Given the description of an element on the screen output the (x, y) to click on. 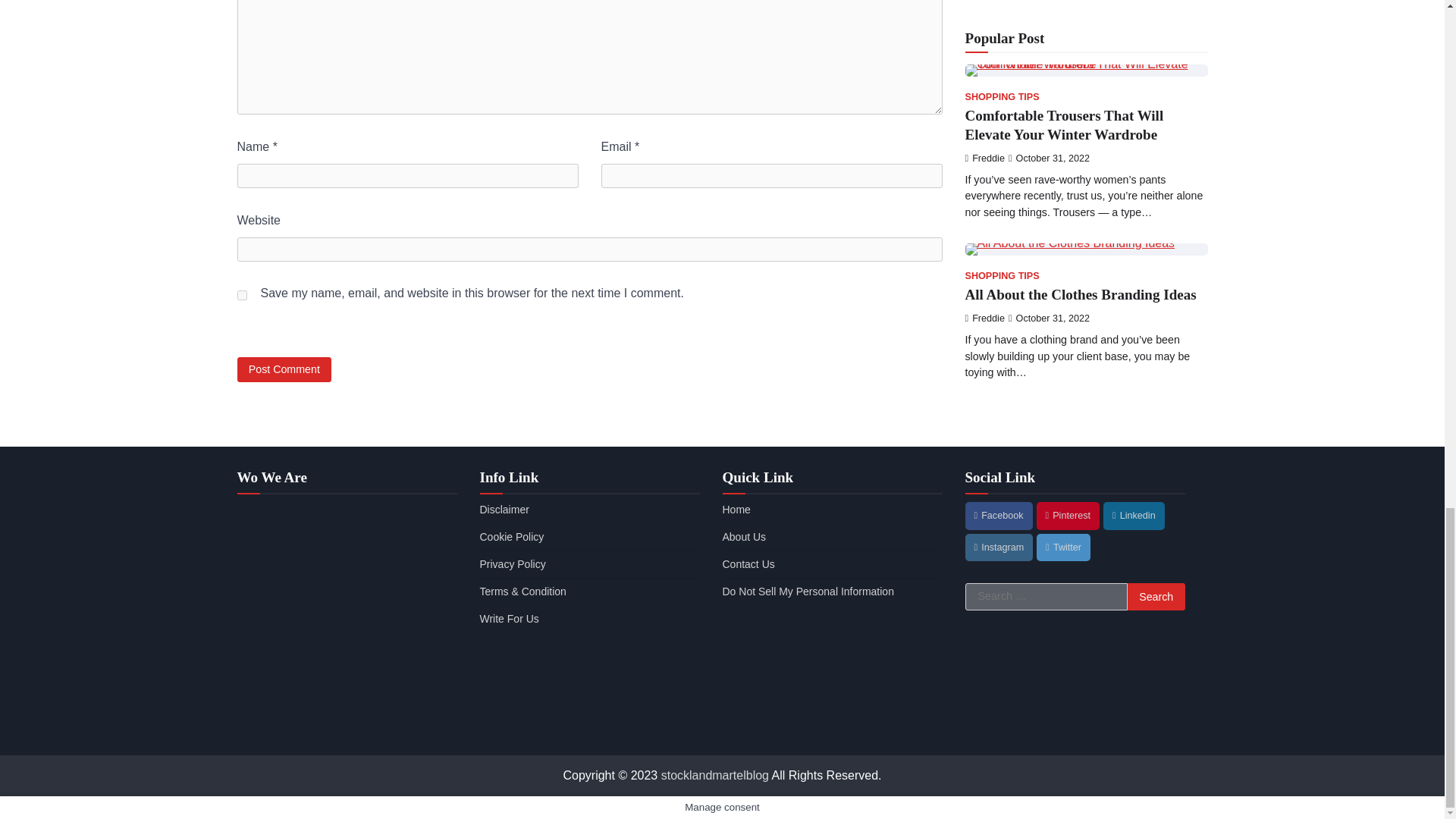
Search (1155, 596)
Search (1155, 596)
DMCA.com Protection Status (832, 727)
Post Comment (283, 369)
yes (240, 295)
Post Comment (283, 369)
